Given the description of an element on the screen output the (x, y) to click on. 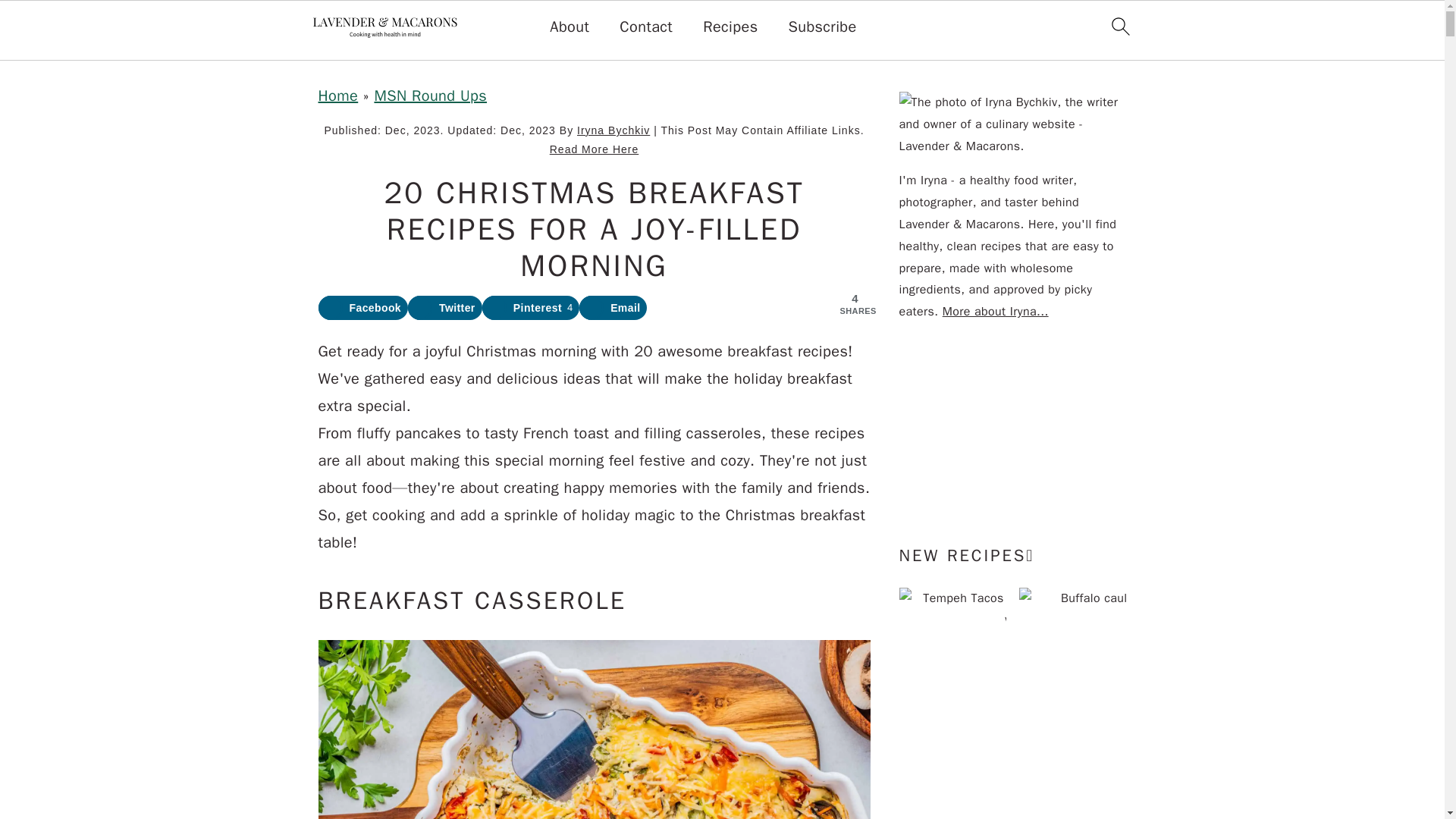
Twitter (444, 307)
search icon (1119, 26)
Home (338, 95)
Contact (646, 27)
Read More Here (594, 149)
Save to Pinterest (530, 307)
Facebook (363, 307)
Share on X (444, 307)
About (569, 27)
